Given the description of an element on the screen output the (x, y) to click on. 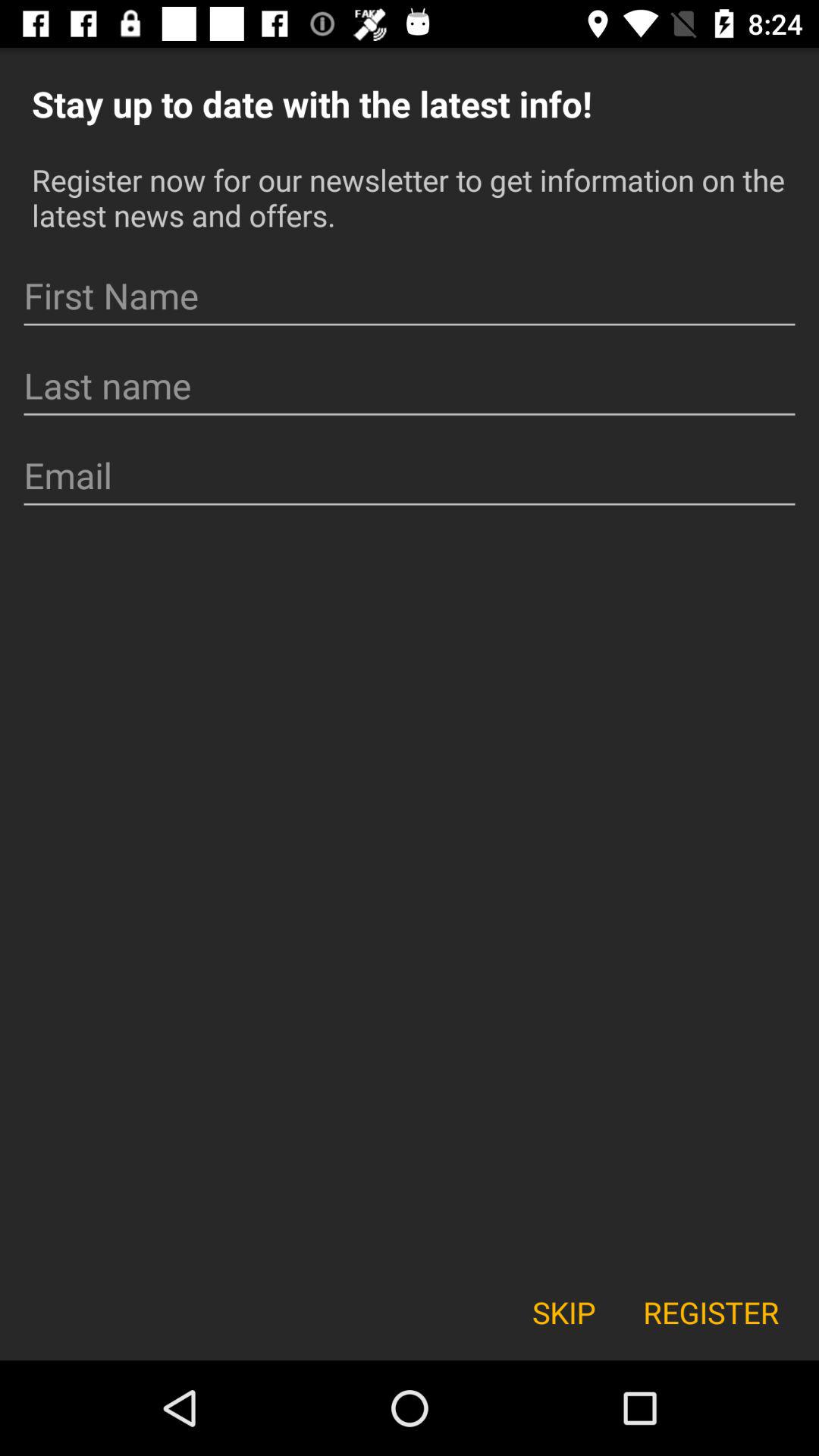
last name (409, 386)
